Given the description of an element on the screen output the (x, y) to click on. 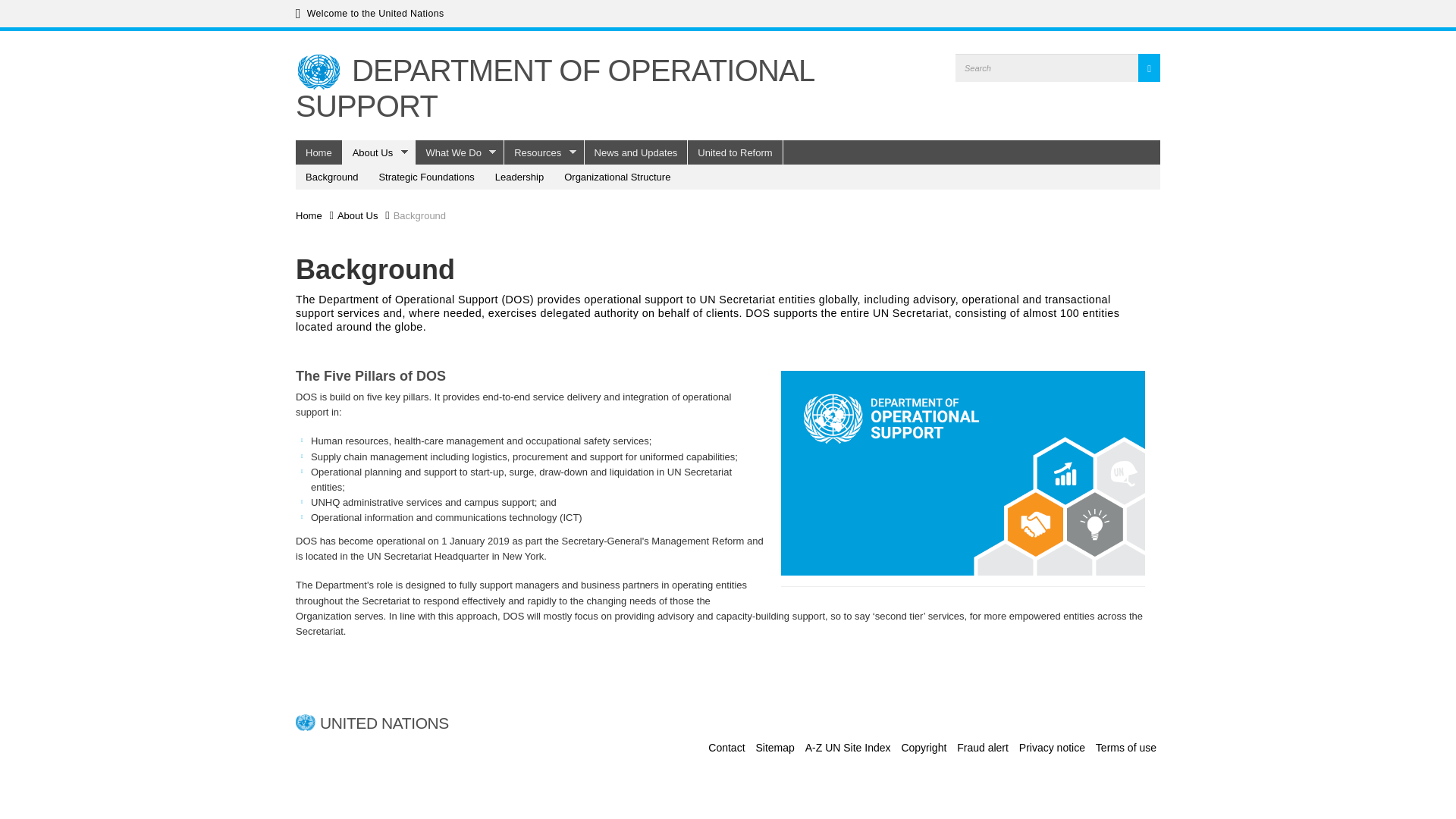
Leadership (519, 176)
News and Updates (636, 152)
United to Reform (735, 152)
Enter the terms you wish to search for. (1046, 67)
News and Updates (636, 152)
Strategic Foundations (426, 176)
Welcome to the United Nations (369, 13)
Home (318, 152)
Home (317, 71)
Home (554, 88)
Background (331, 176)
Organizational Structure (617, 176)
Search (979, 95)
DEPARTMENT OF OPERATIONAL SUPPORT (554, 88)
